Given the description of an element on the screen output the (x, y) to click on. 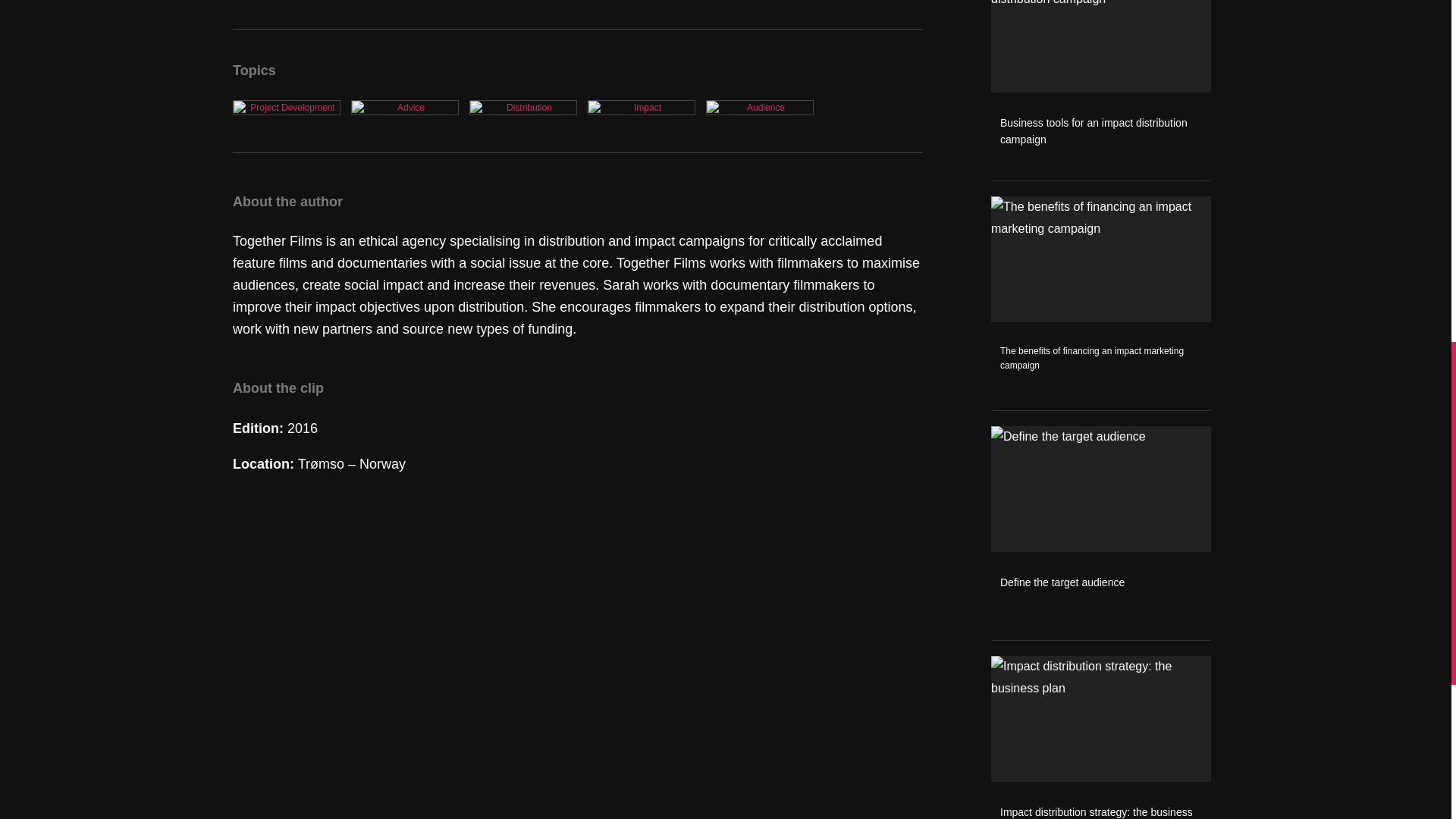
Play The benefits of financing an impact marketing campaign (1101, 303)
Play Business tools for an impact distribution campaign (1101, 90)
Play Impact distribution strategy: the business plan (1101, 737)
Play Define the target audience (1101, 532)
